Given the description of an element on the screen output the (x, y) to click on. 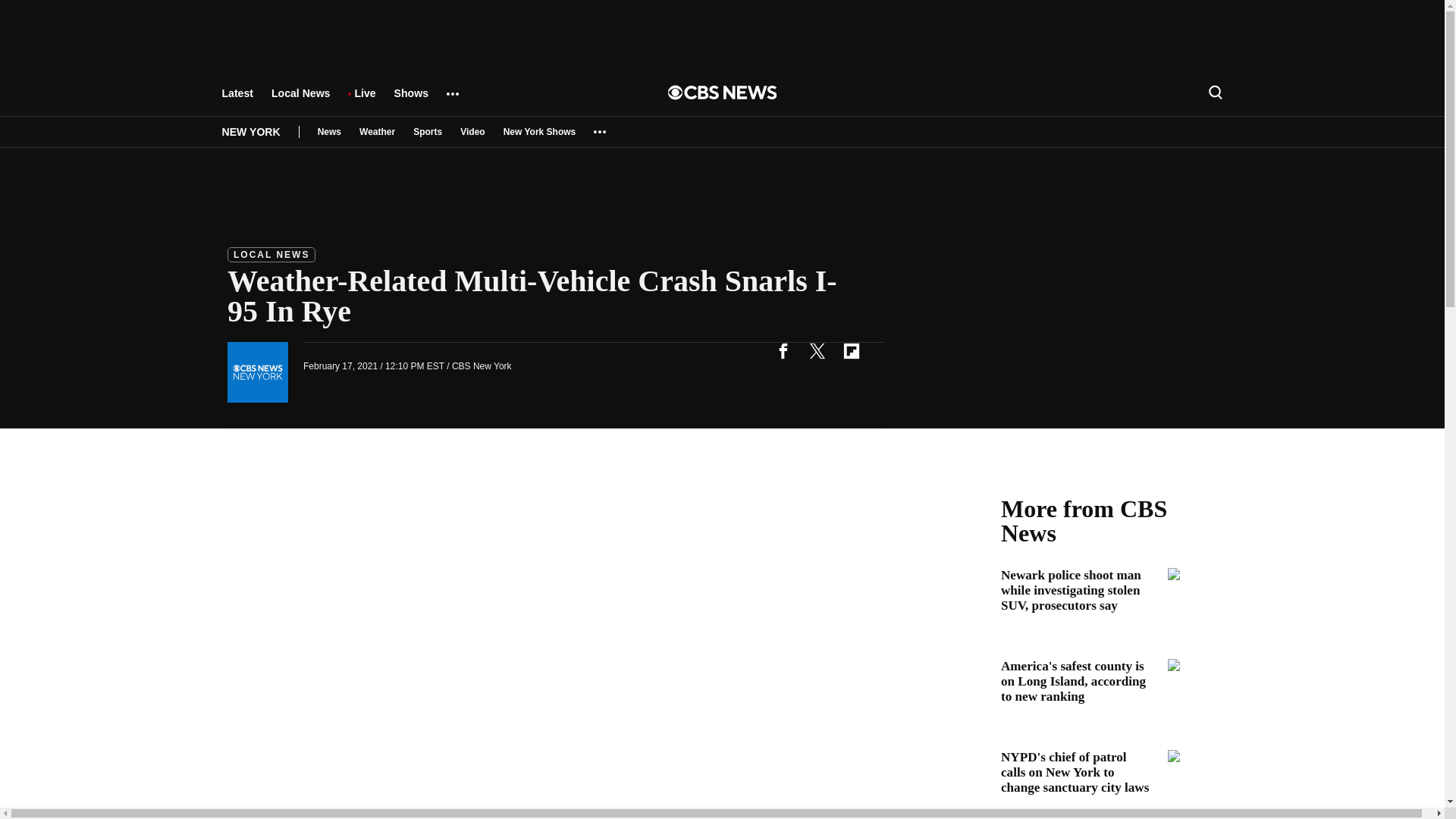
Local News (300, 100)
twitter (816, 350)
Latest (236, 100)
facebook (782, 350)
flipboard (850, 350)
